Given the description of an element on the screen output the (x, y) to click on. 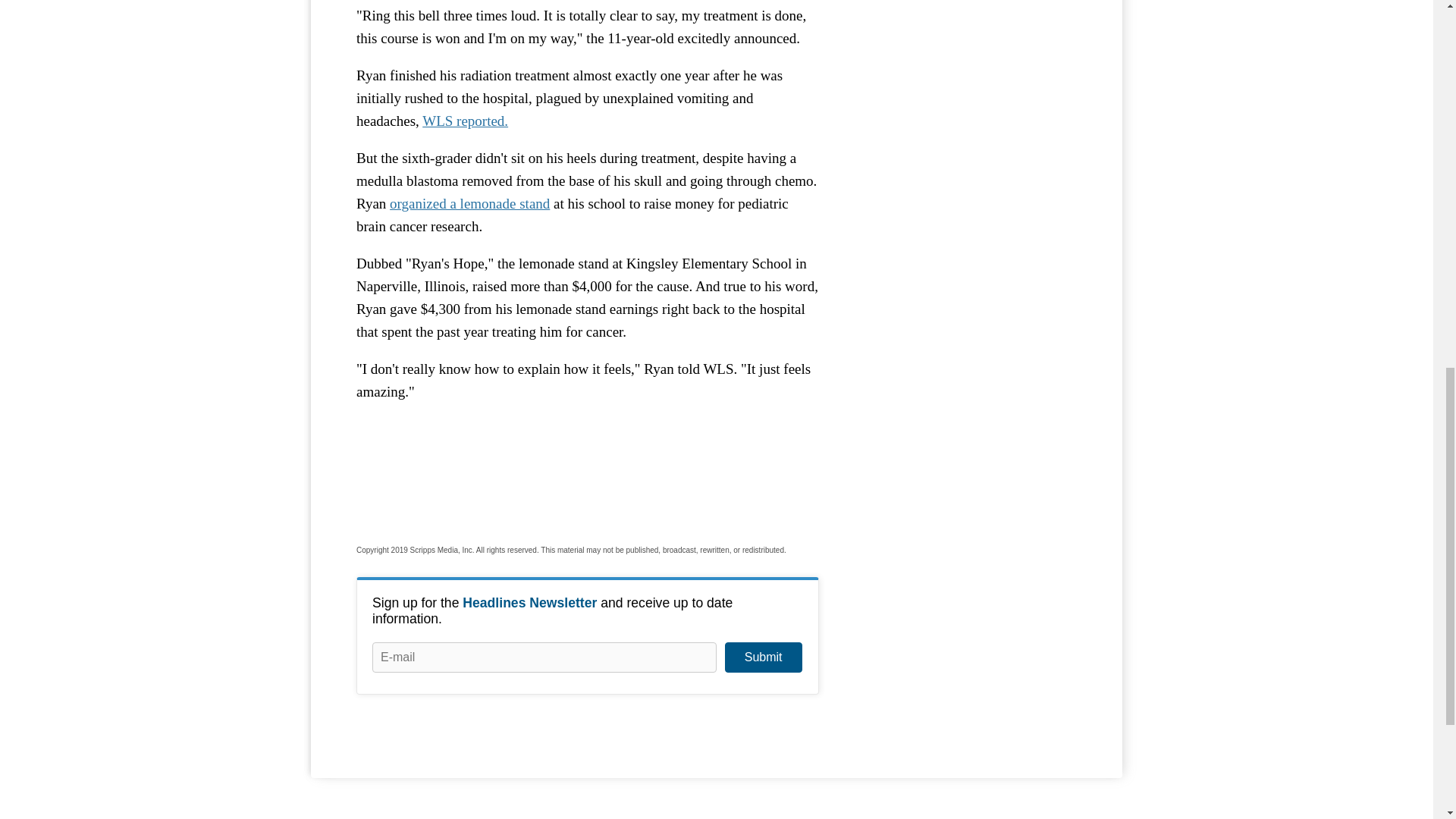
Submit (763, 657)
